Given the description of an element on the screen output the (x, y) to click on. 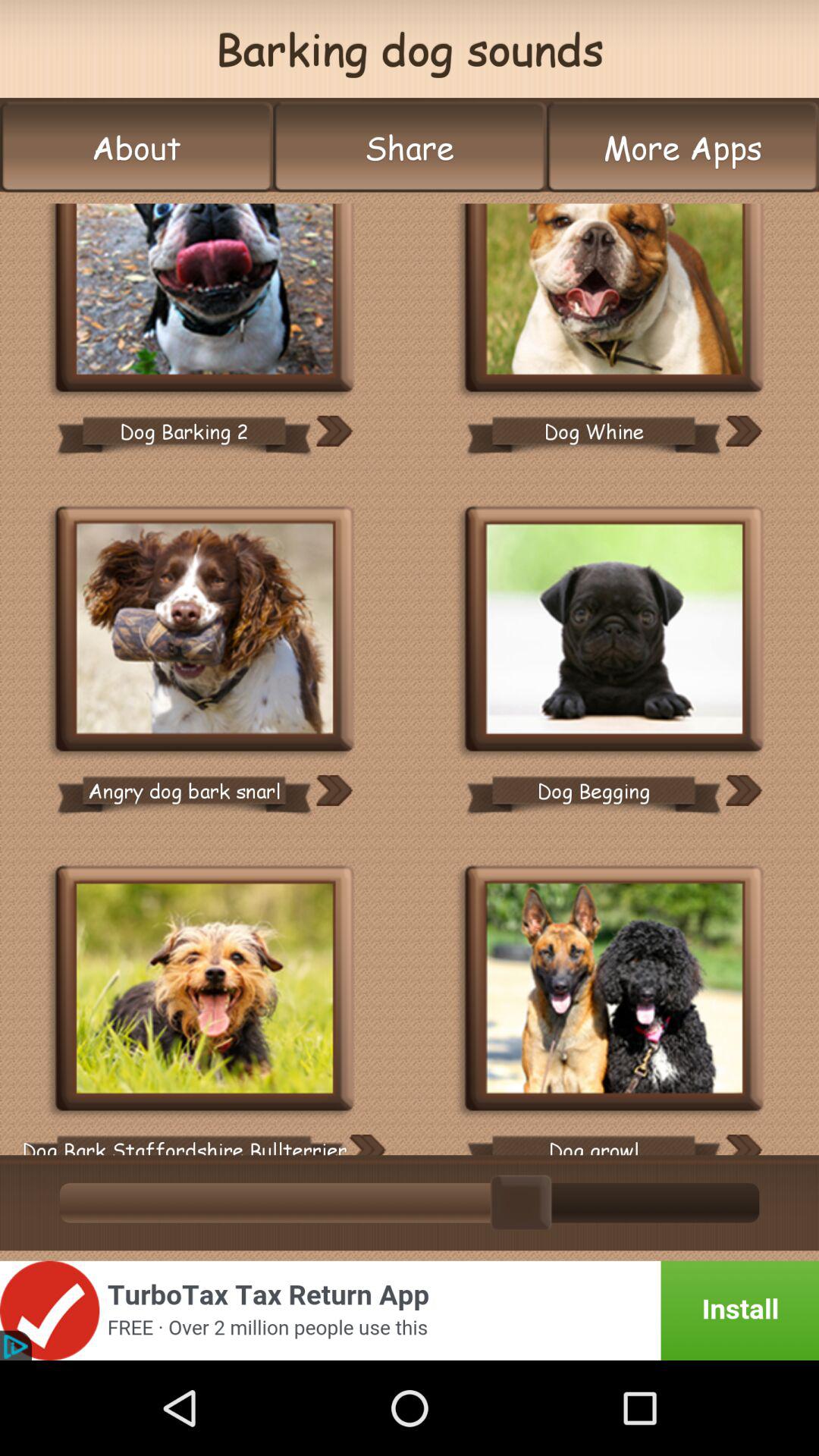
play sound (366, 1144)
